Given the description of an element on the screen output the (x, y) to click on. 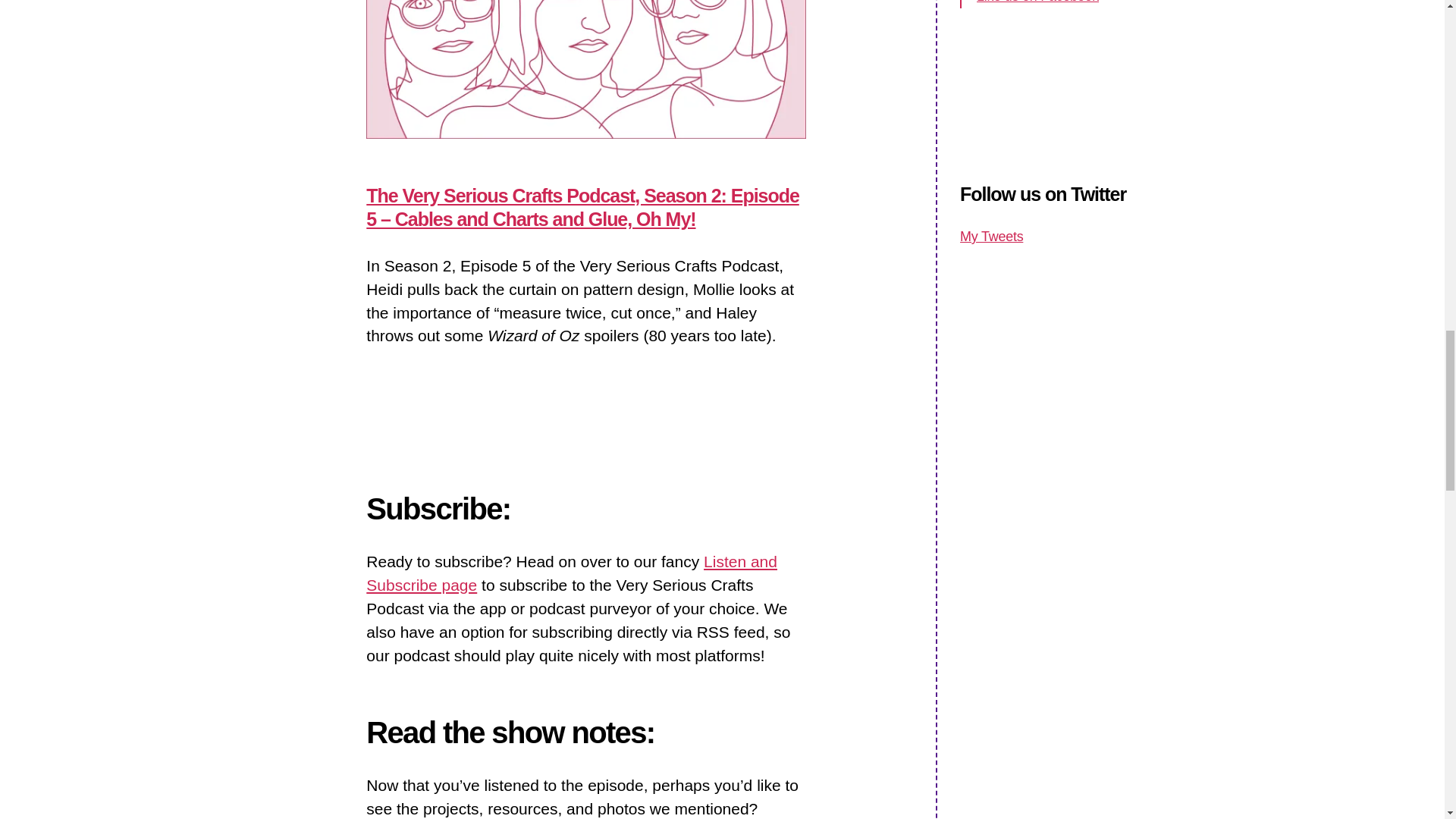
Listen and Subscribe page (571, 572)
